Given the description of an element on the screen output the (x, y) to click on. 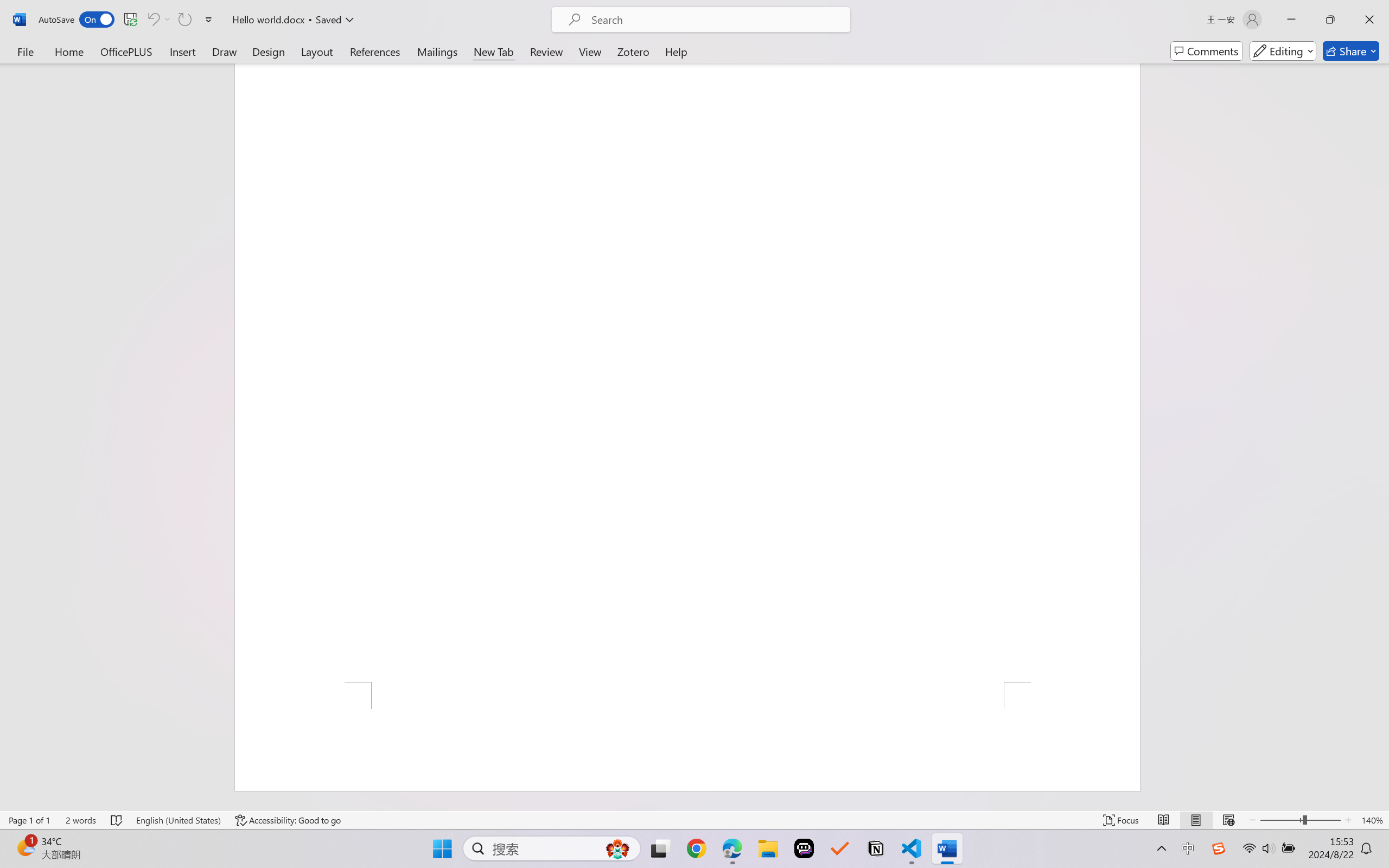
Can't Undo (158, 19)
Read Mode (1163, 819)
Close (1369, 19)
Mailings (437, 51)
Microsoft search (715, 19)
Comments (1206, 50)
Layout (316, 51)
Design (268, 51)
Zoom Out (1280, 819)
Focus  (1121, 819)
Print Layout (1196, 819)
Class: NetUIScrollBar (1382, 436)
Language English (United States) (178, 819)
